Given the description of an element on the screen output the (x, y) to click on. 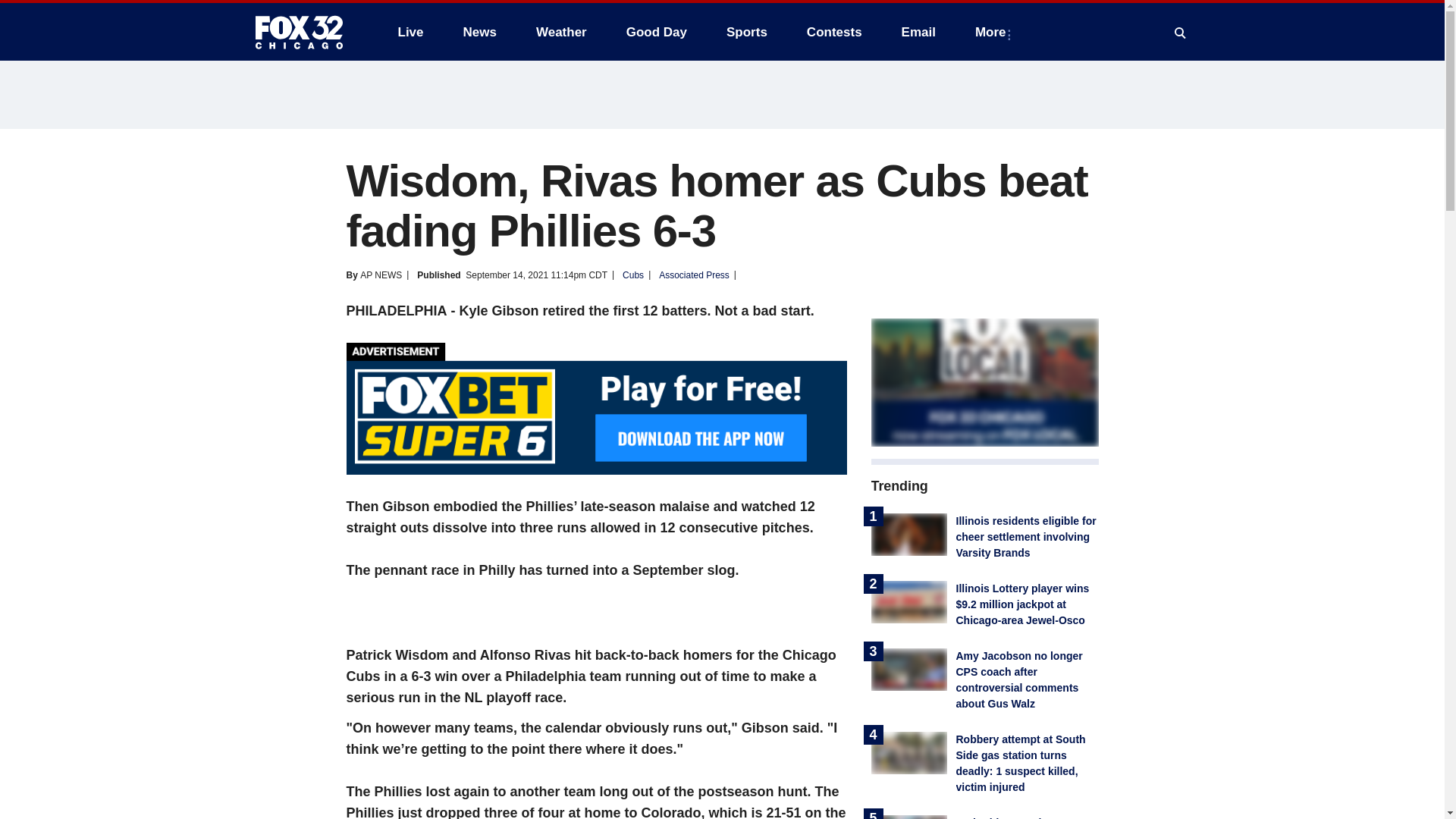
News (479, 32)
Good Day (656, 32)
Sports (746, 32)
More (993, 32)
Live (410, 32)
Contests (834, 32)
Weather (561, 32)
Email (918, 32)
